Given the description of an element on the screen output the (x, y) to click on. 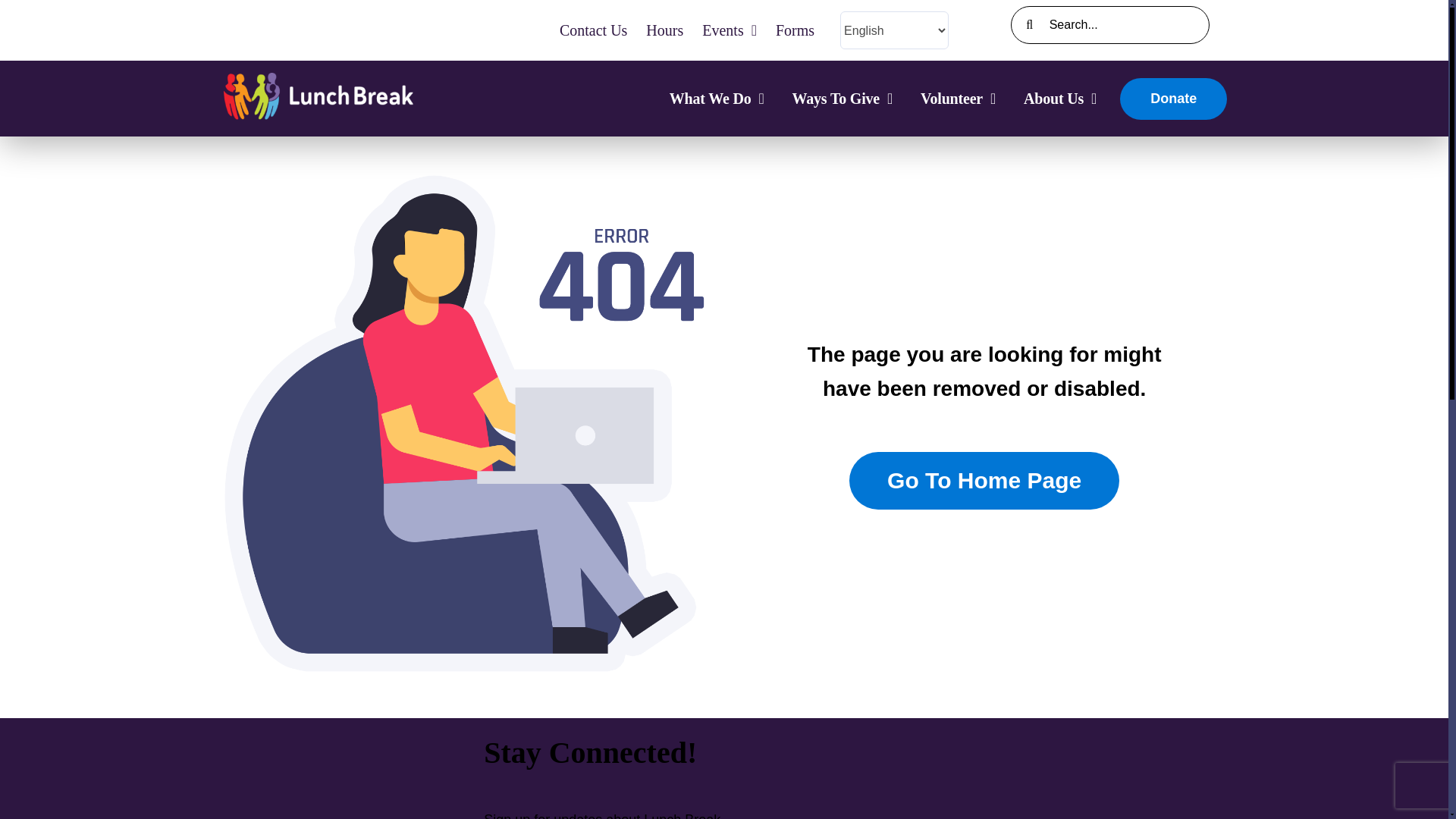
Contact Us (593, 30)
About Us (1059, 98)
Donate (1173, 97)
Forms (794, 30)
What We Do (716, 98)
Hours (664, 30)
Volunteer (957, 98)
Events (729, 30)
Ways To Give (842, 98)
